Given the description of an element on the screen output the (x, y) to click on. 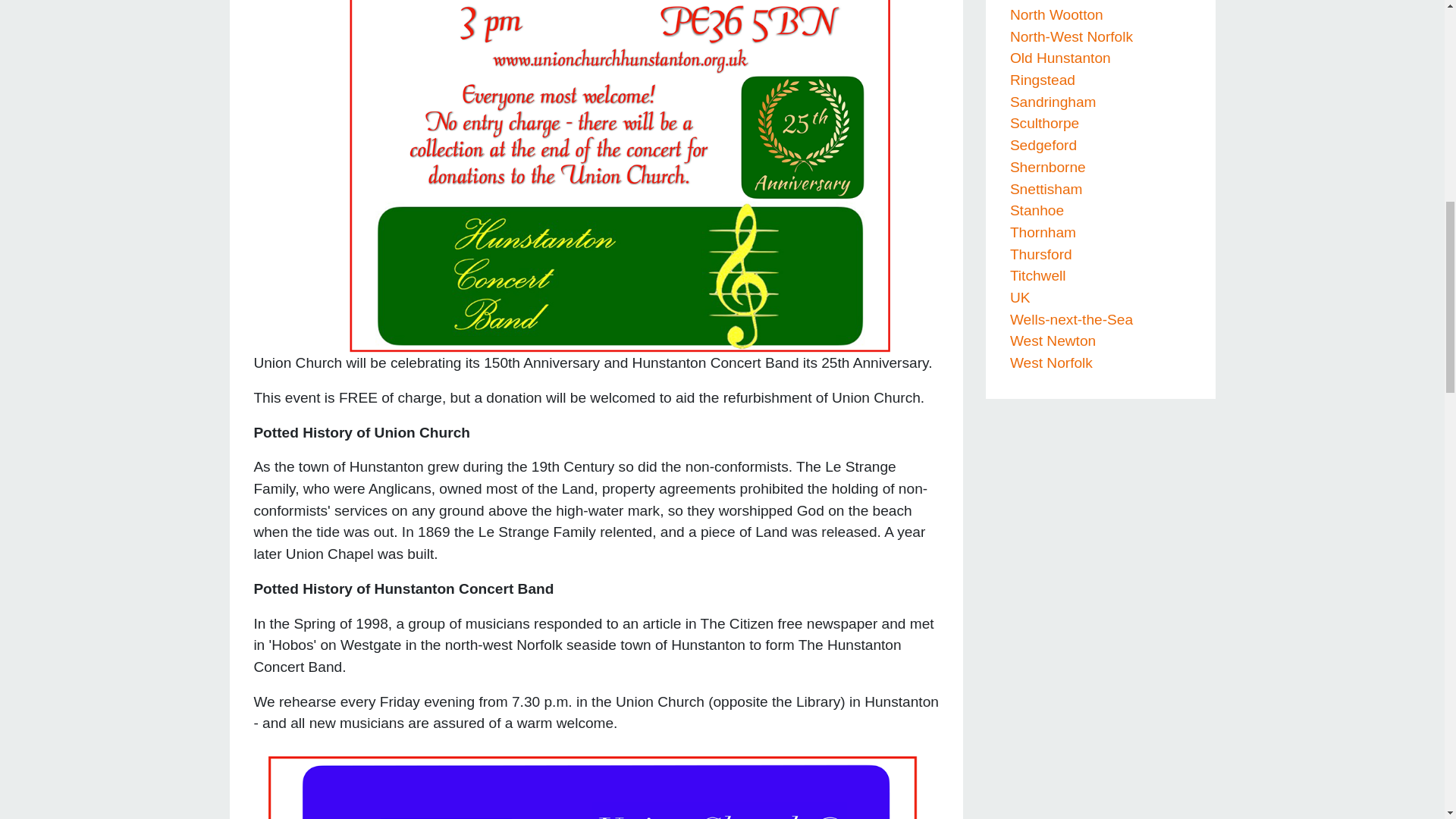
Union 3 (596, 783)
North Wootton (1056, 14)
